Given the description of an element on the screen output the (x, y) to click on. 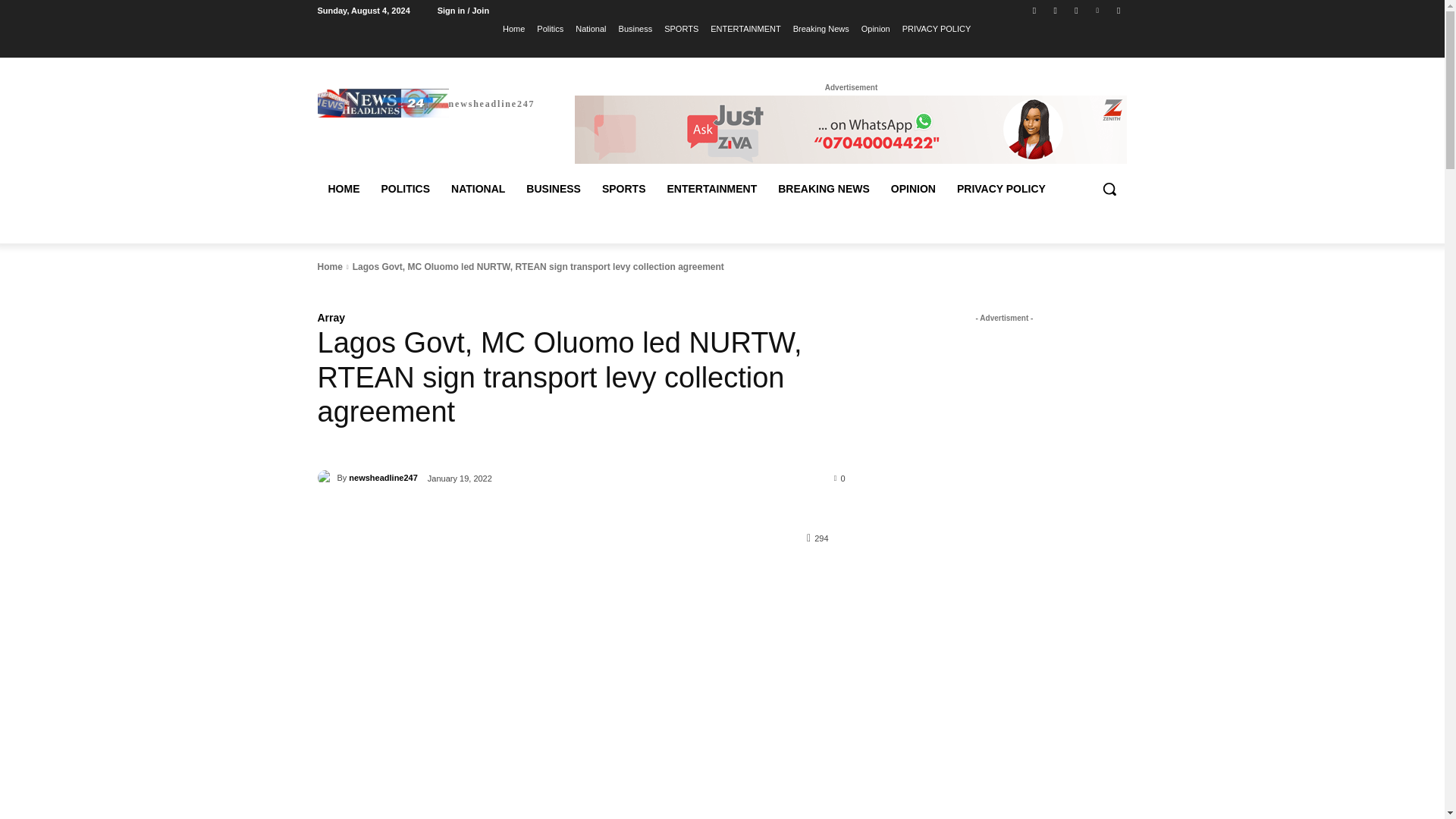
Business (635, 28)
PRIVACY POLICY (936, 28)
Breaking News (820, 28)
POLITICS (405, 188)
Home (513, 28)
SPORTS (680, 28)
National (590, 28)
ENTERTAINMENT (745, 28)
HOME (343, 188)
Instagram (1055, 9)
